Given the description of an element on the screen output the (x, y) to click on. 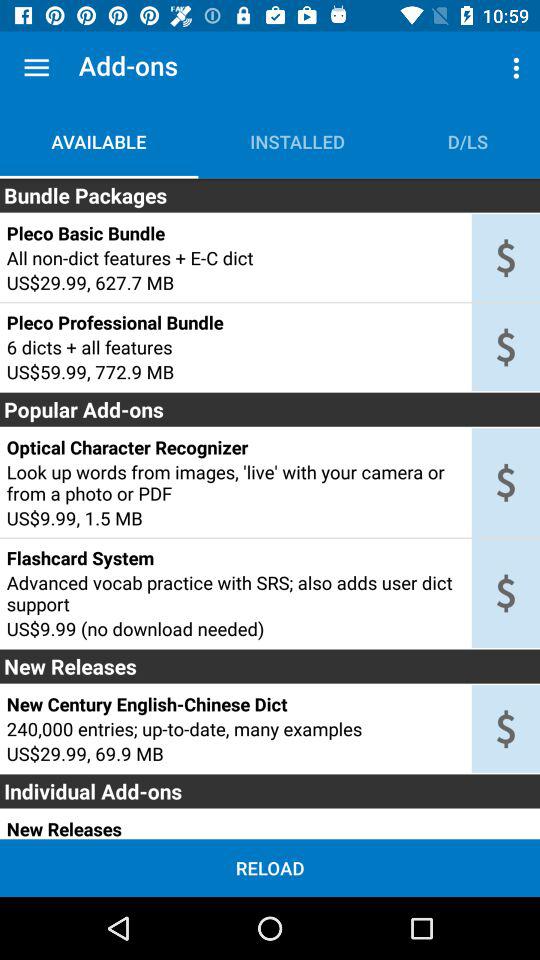
jump to look up words item (235, 482)
